Given the description of an element on the screen output the (x, y) to click on. 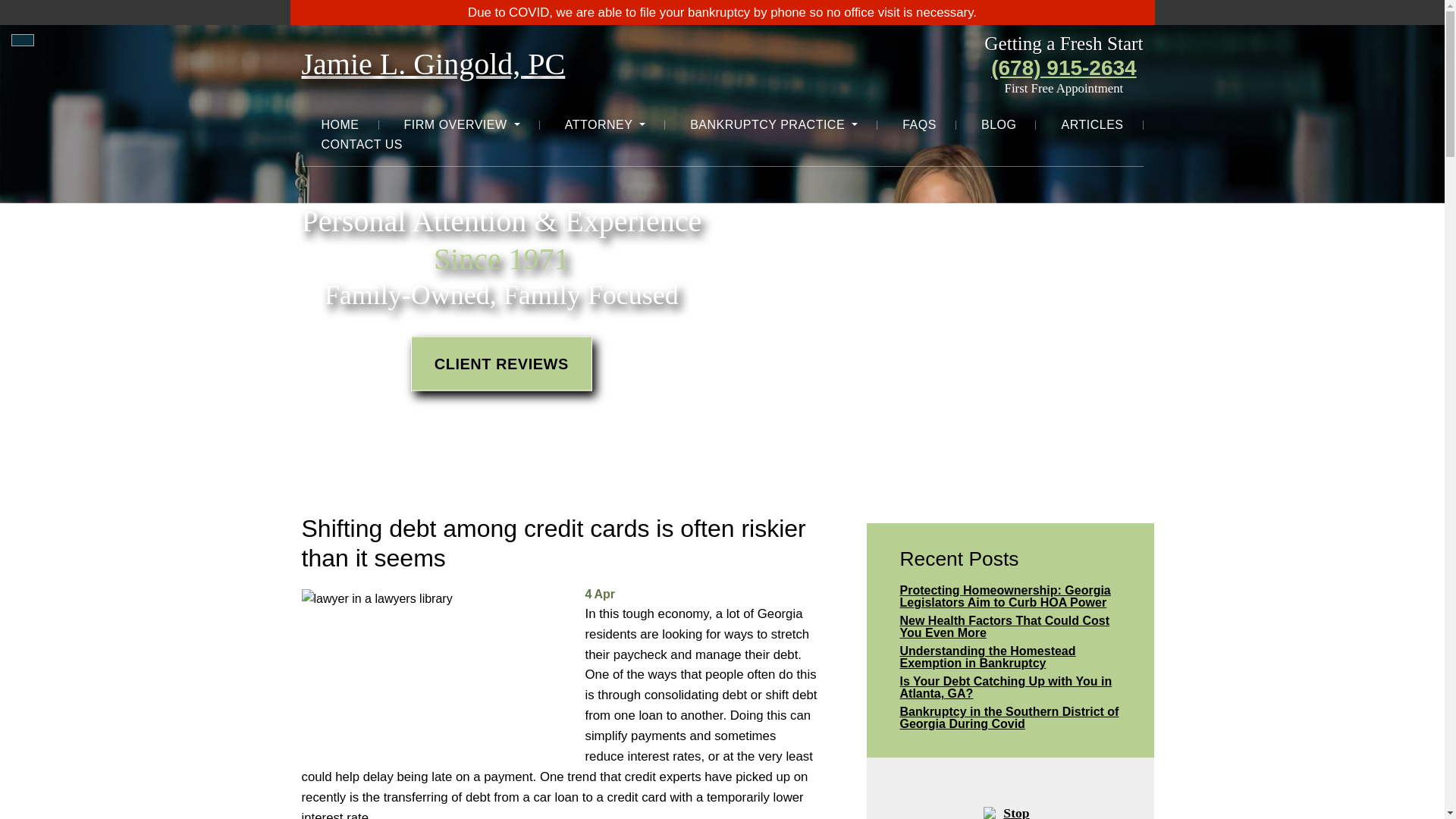
Stop Creditors (1010, 800)
BLOG (997, 125)
Is Your Debt Catching Up with You in Atlanta, GA? (1010, 687)
Understanding the Homestead Exemption in Bankruptcy (1010, 657)
FIRM OVERVIEW (462, 125)
CONTACT US (362, 144)
BANKRUPTCY PRACTICE (773, 125)
New Health Factors That Could Cost You Even More (1010, 626)
CLIENT REVIEWS (501, 363)
